Given the description of an element on the screen output the (x, y) to click on. 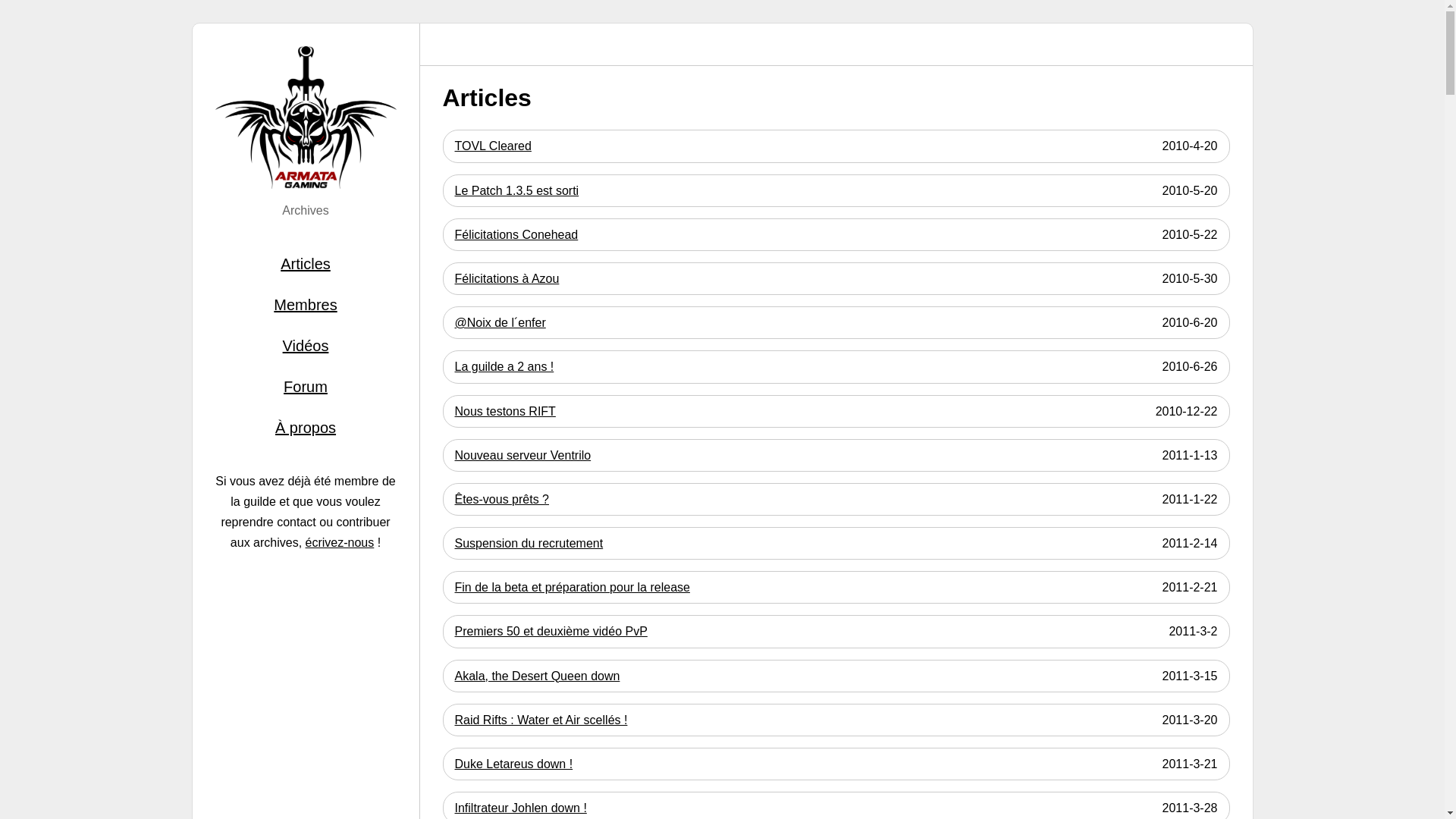
Suspension du recrutement Element type: text (529, 543)
Akala, the Desert Queen down Element type: text (537, 675)
Nouveau serveur Ventrilo Element type: text (523, 455)
Membres Element type: text (305, 304)
Infiltrateur Johlen down ! Element type: text (520, 807)
La guilde a 2 ans ! Element type: text (504, 366)
Nous testons RIFT Element type: text (505, 411)
Forum Element type: text (305, 386)
Le Patch 1.3.5 est sorti Element type: text (517, 190)
Articles Element type: text (305, 263)
Duke Letareus down ! Element type: text (514, 763)
TOVL Cleared Element type: text (493, 145)
